Given the description of an element on the screen output the (x, y) to click on. 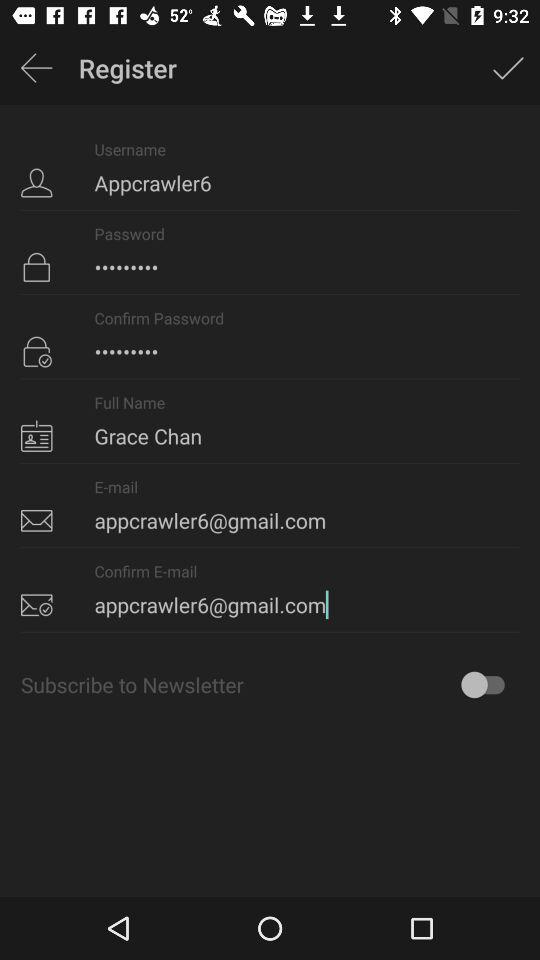
tap grace chan item (270, 421)
